Given the description of an element on the screen output the (x, y) to click on. 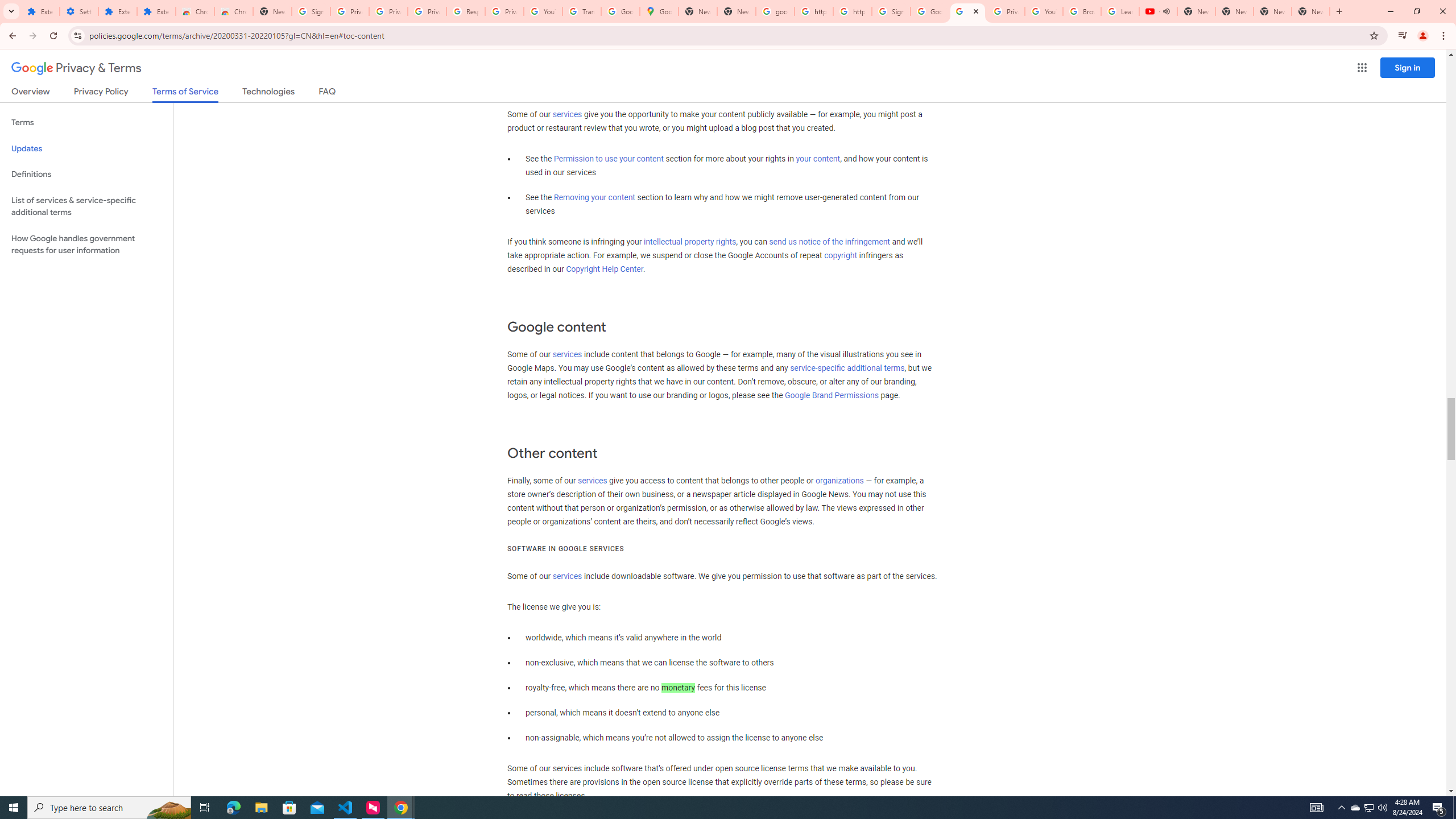
https://scholar.google.com/ (852, 11)
Chrome Web Store - Themes (233, 11)
send us notice of the infringement (828, 242)
organizations (839, 480)
